Given the description of an element on the screen output the (x, y) to click on. 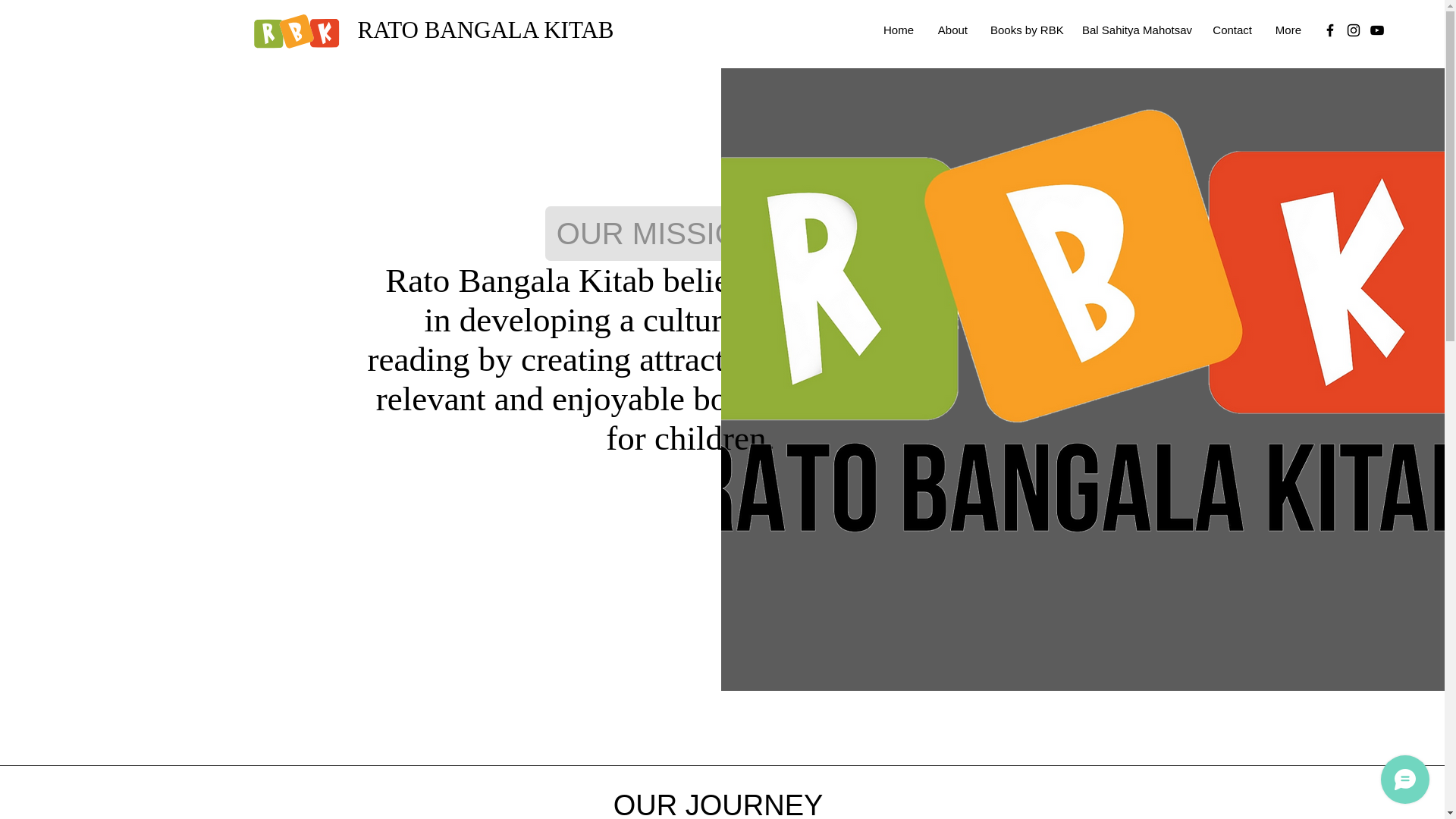
Books by RBK (1024, 29)
Home (897, 29)
OUR MISSION (657, 233)
About (951, 29)
Bal Sahitya Mahotsav (1134, 29)
Contact (1231, 29)
RATO BANGALA KITAB (486, 29)
